Given the description of an element on the screen output the (x, y) to click on. 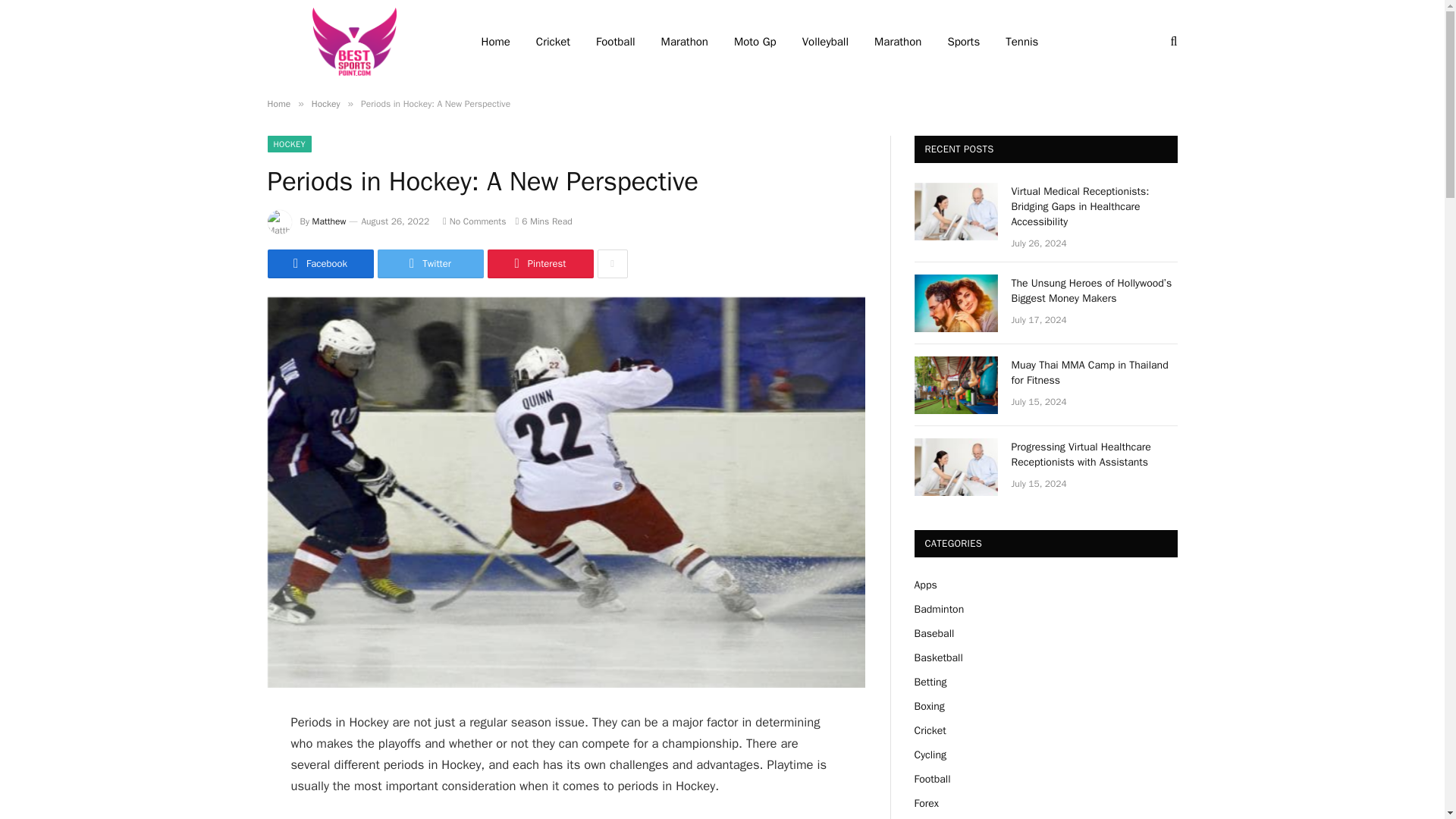
Twitter (430, 263)
Facebook (319, 263)
Bestsportspoint (353, 41)
Home (277, 103)
Show More Social Sharing (611, 263)
Matthew (329, 221)
Hockey (325, 103)
HOCKEY (288, 143)
Share on Facebook (319, 263)
Posts by Matthew (329, 221)
Pinterest (539, 263)
No Comments (473, 221)
Share on Pinterest (539, 263)
